Given the description of an element on the screen output the (x, y) to click on. 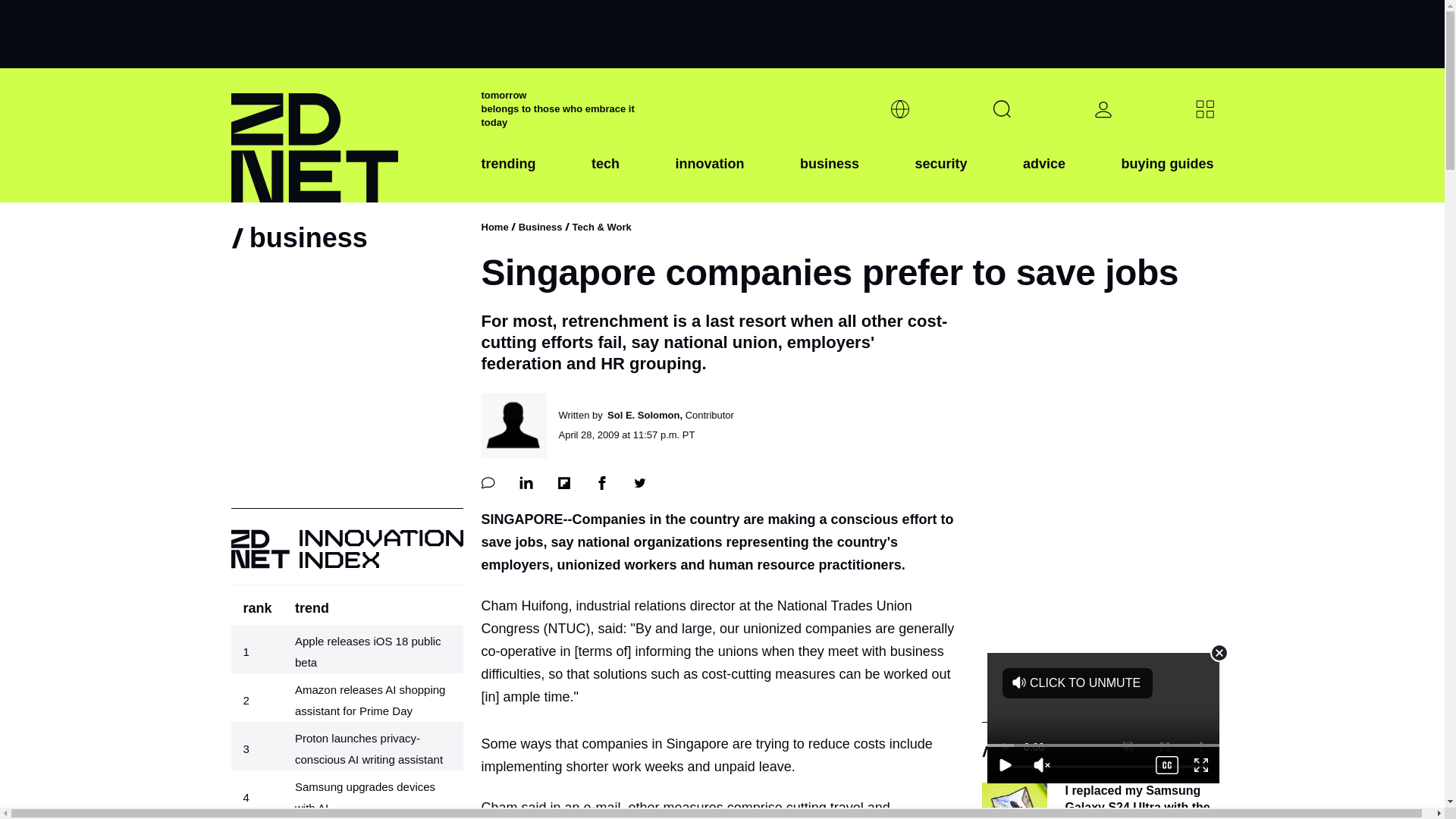
Play (1005, 764)
trending (507, 175)
ZDNET (346, 134)
3rd party ad content (721, 33)
